Given the description of an element on the screen output the (x, y) to click on. 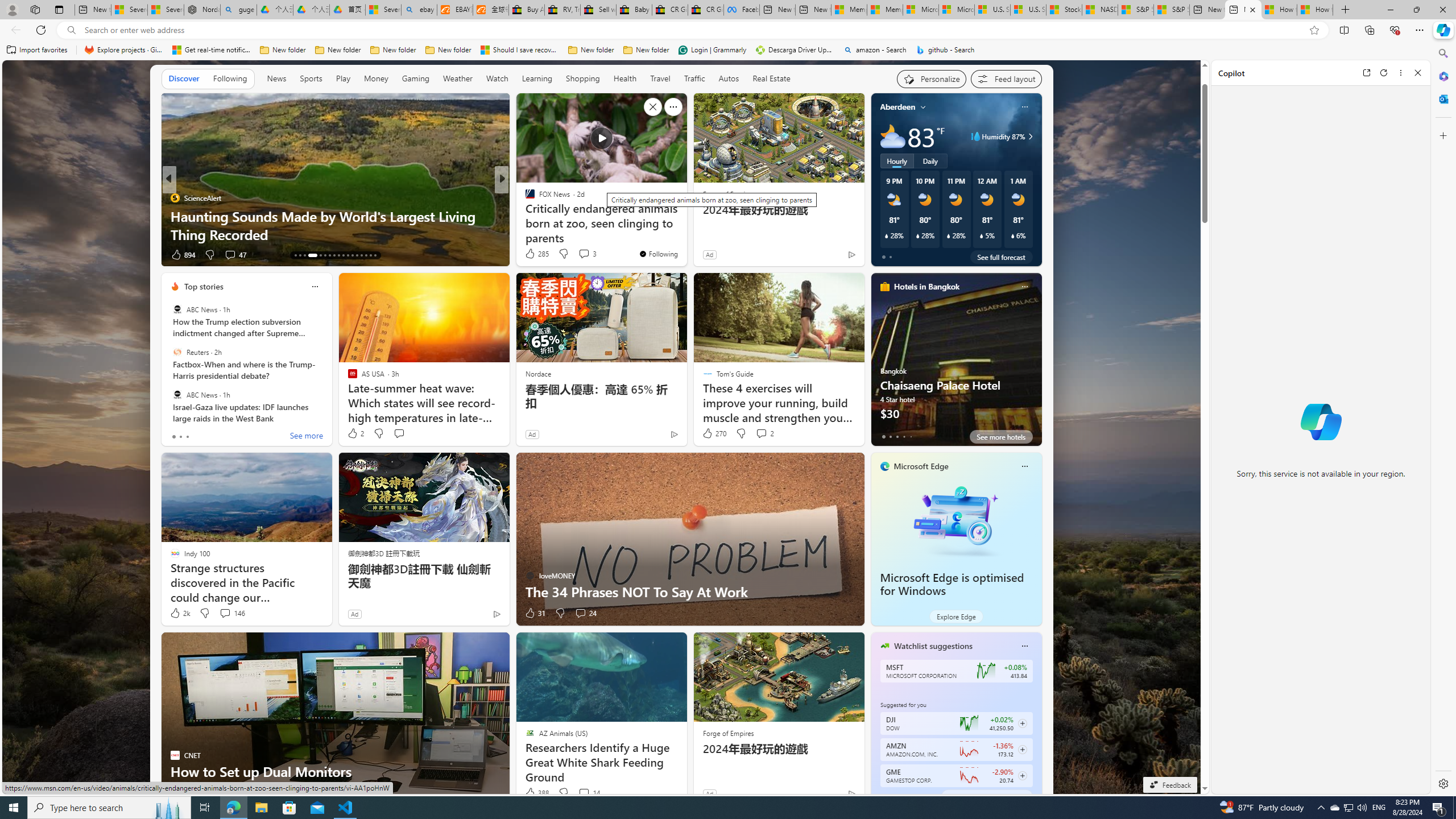
View comments 3 Comment (587, 253)
Hide this story (652, 106)
Descarga Driver Updater (794, 49)
CNBC (524, 197)
For The Win (524, 197)
31 Like (534, 612)
2k Like (179, 612)
Reuters (176, 352)
Storyful (524, 197)
Largest Timber Rattlesnake Ever Recorded (684, 234)
388 Like (536, 792)
View comments 6 Comment (580, 254)
tab-4 (910, 795)
